Given the description of an element on the screen output the (x, y) to click on. 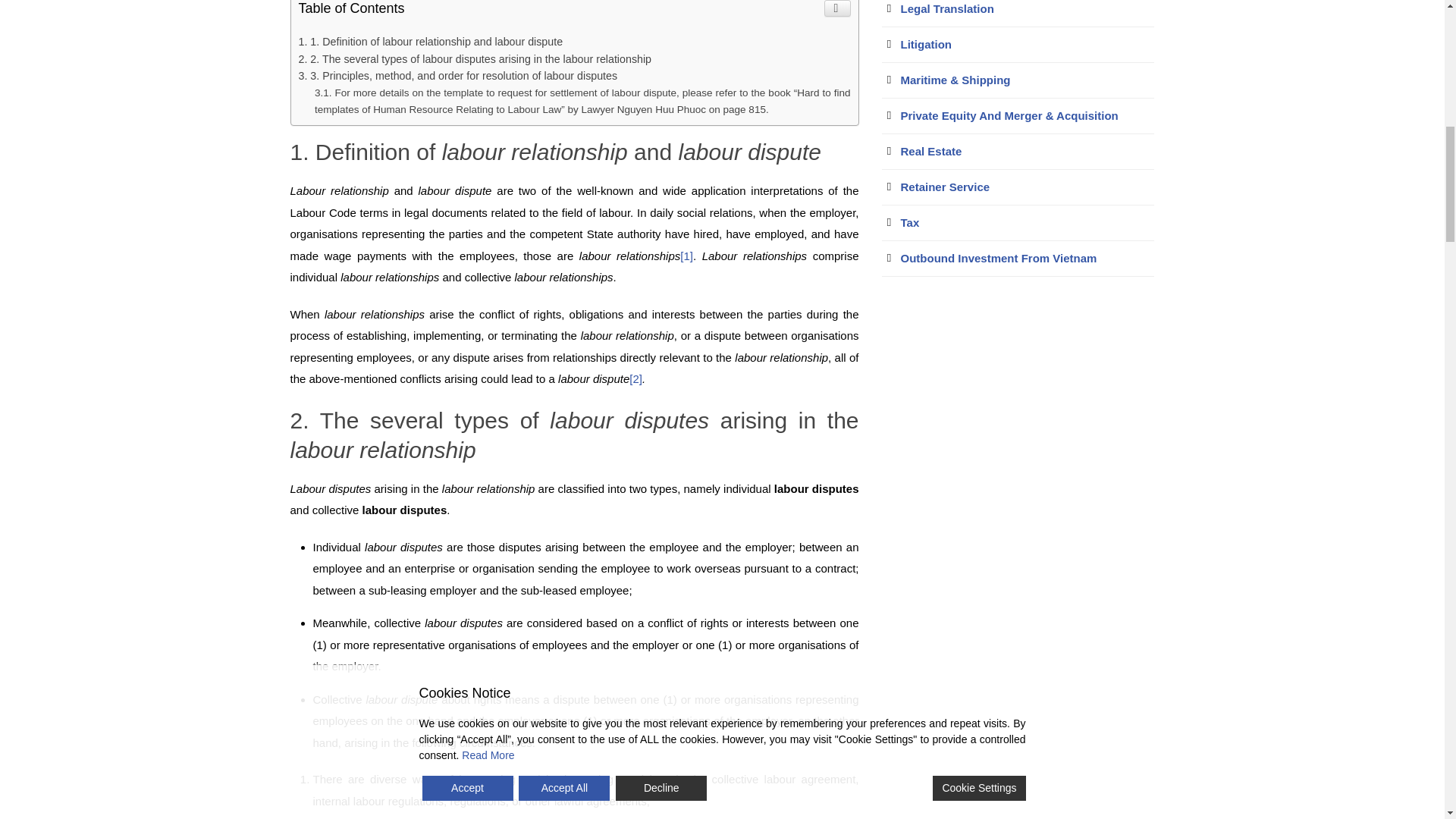
1. Definition of labour relationship and labour dispute (430, 41)
